Given the description of an element on the screen output the (x, y) to click on. 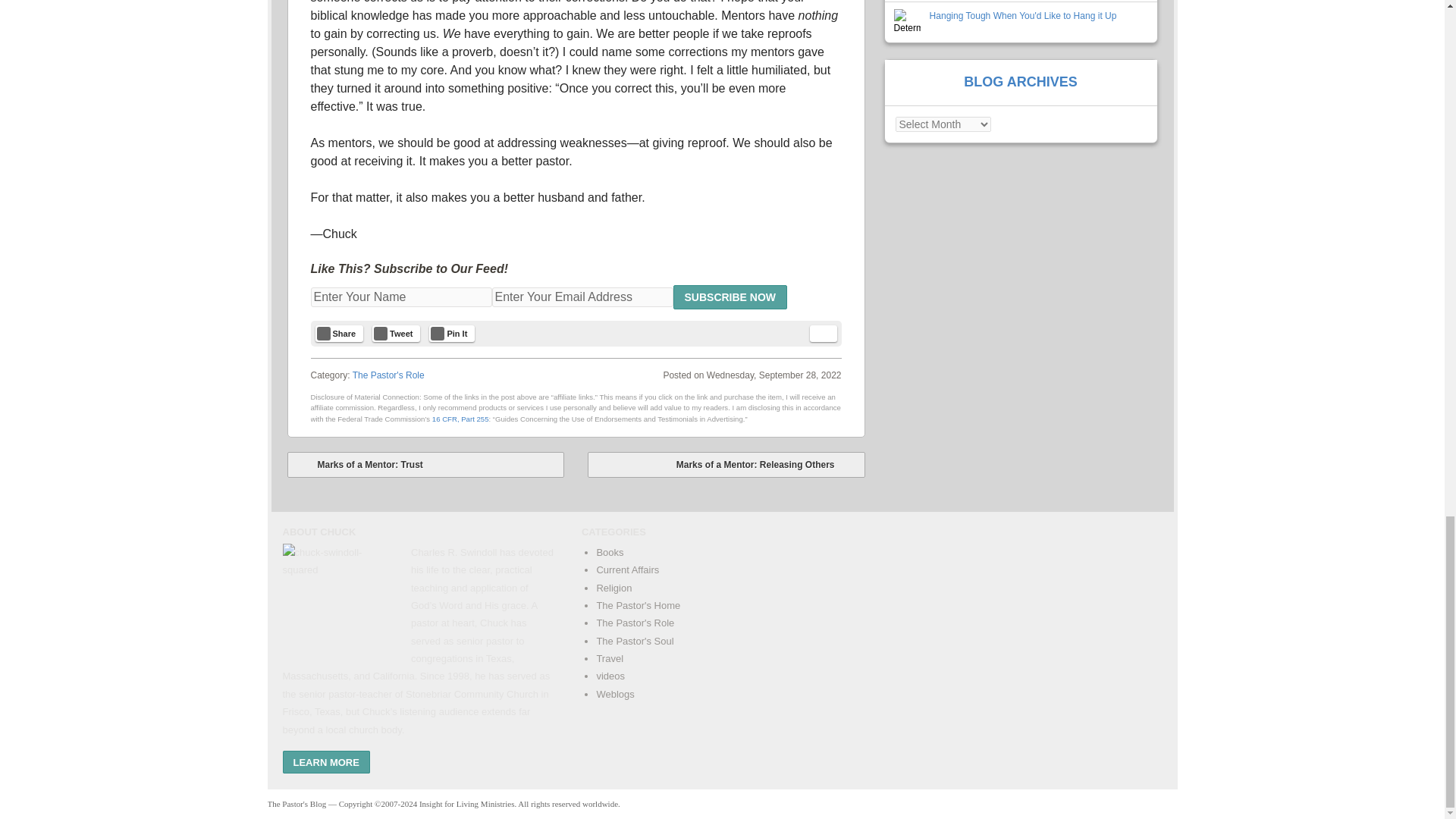
The Pastor's Role (388, 375)
email (823, 333)
Share on Facebook (339, 333)
Subscribe Now (729, 297)
Enter Your Name (401, 297)
Pin It (451, 333)
16 CFR, Part 255 (460, 418)
Tweet (396, 333)
Share (339, 333)
Subscribe Now (729, 297)
Tweet this Post (396, 333)
Enter Your Email Address (582, 297)
